Given the description of an element on the screen output the (x, y) to click on. 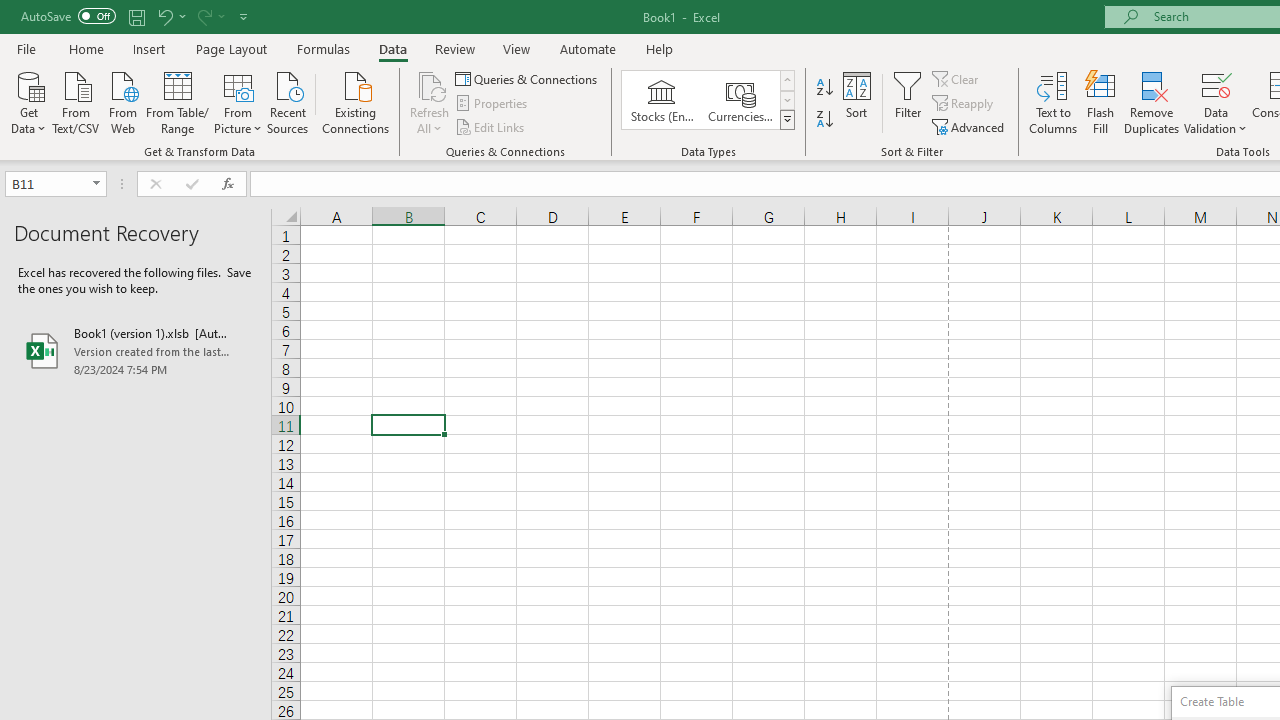
Queries & Connections (527, 78)
Sort... (856, 102)
Data Validation... (1215, 102)
Recent Sources (287, 101)
Automate (588, 48)
Book1 (version 1).xlsb  [AutoRecovered] (136, 350)
